Given the description of an element on the screen output the (x, y) to click on. 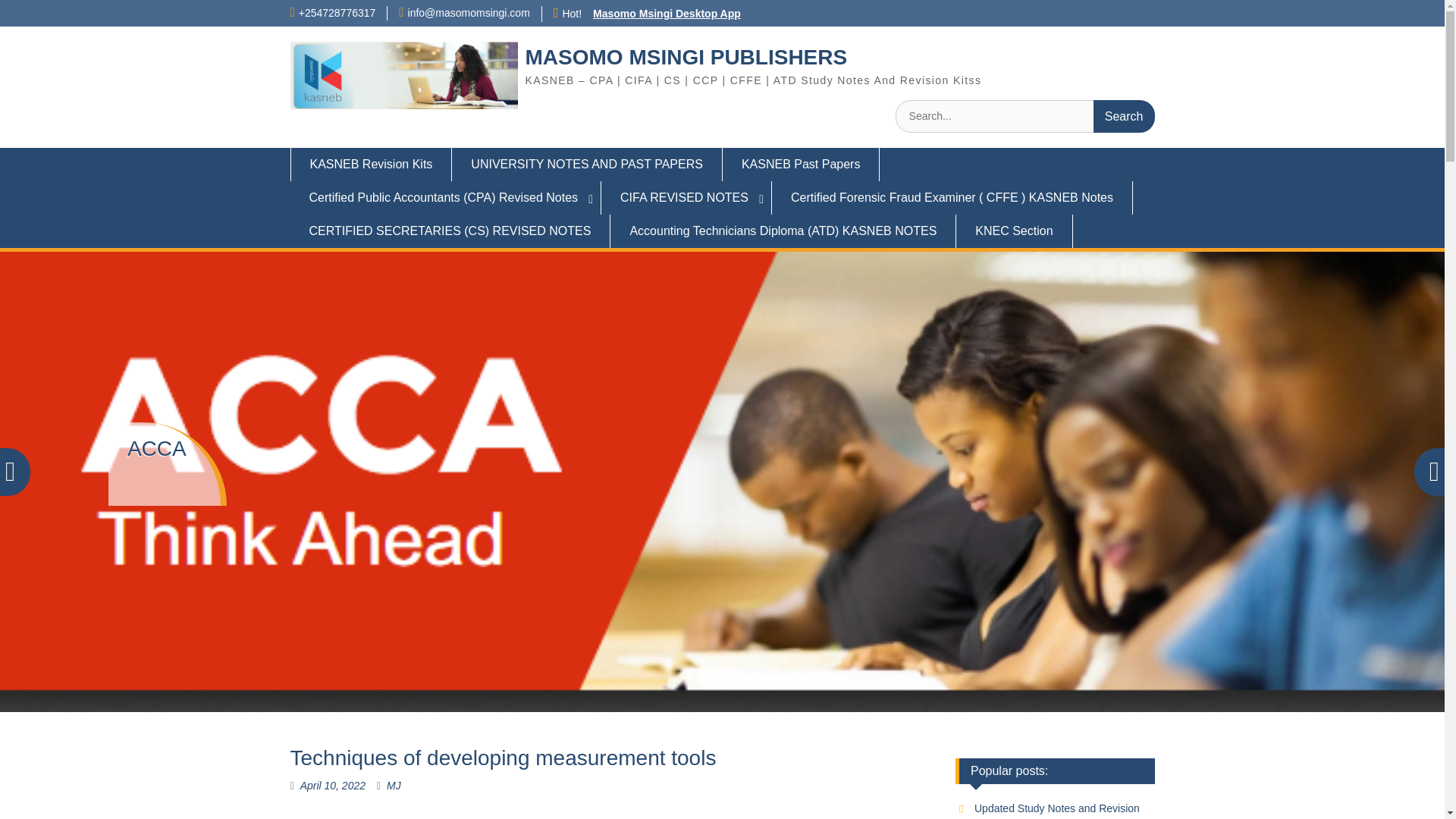
Masomo Msingi Desktop App (666, 13)
UNIVERSITY NOTES AND PAST PAPERS (586, 164)
KASNEB Revision Kits (370, 164)
Search (1123, 115)
ACCA (157, 448)
April 10, 2022 (332, 785)
Search (1123, 115)
CIFA REVISED NOTES (686, 197)
KNEC Section (1013, 231)
Search for: (1024, 115)
